Given the description of an element on the screen output the (x, y) to click on. 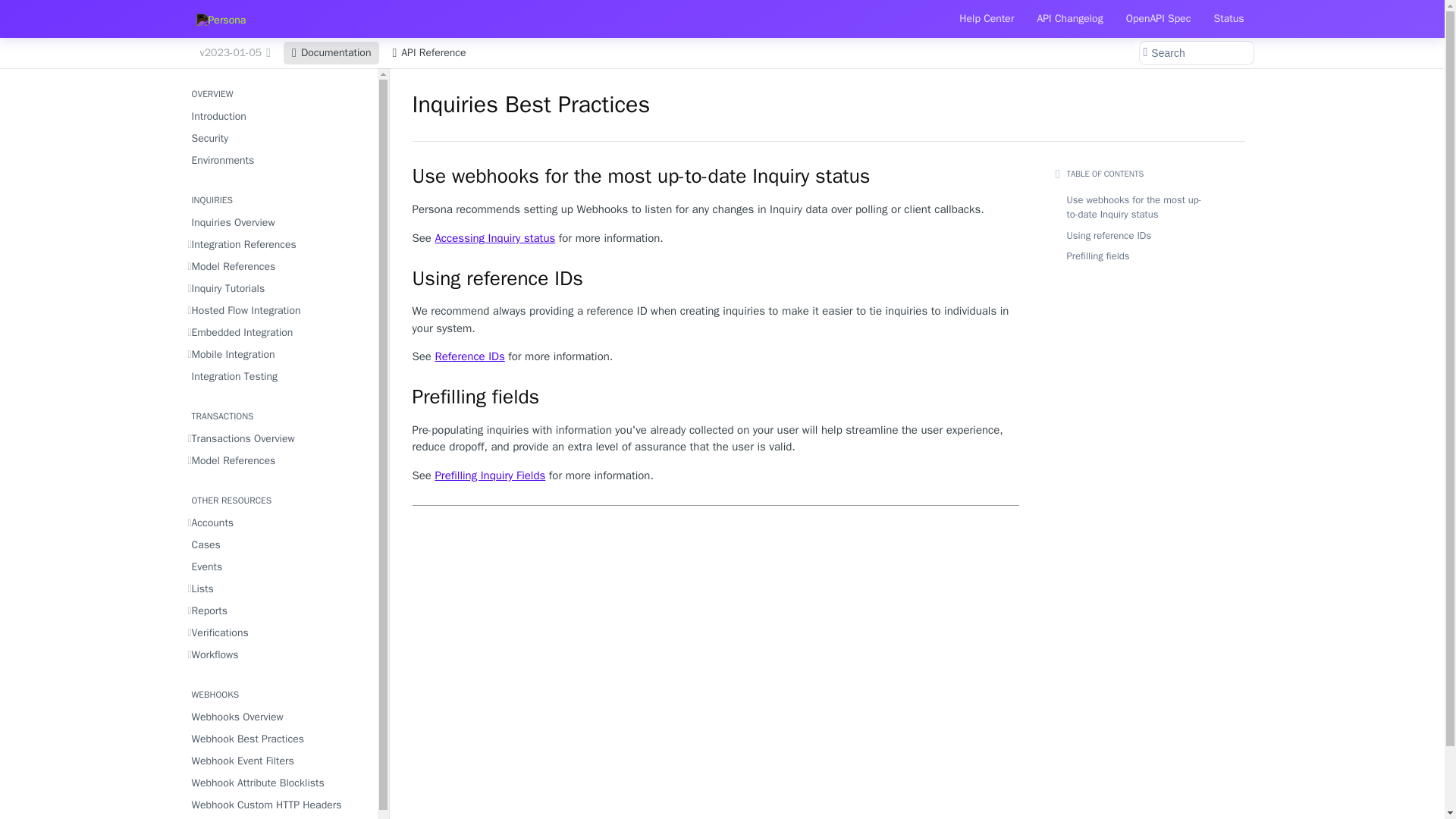
Environments (277, 159)
Status (1229, 18)
Security (277, 137)
Introduction (277, 116)
Integration References (277, 244)
OpenAPI Spec (1157, 18)
Help Center (986, 18)
Model References (277, 266)
API Reference (429, 52)
Use webhooks for the most up-to-date Inquiry status (715, 176)
